Given the description of an element on the screen output the (x, y) to click on. 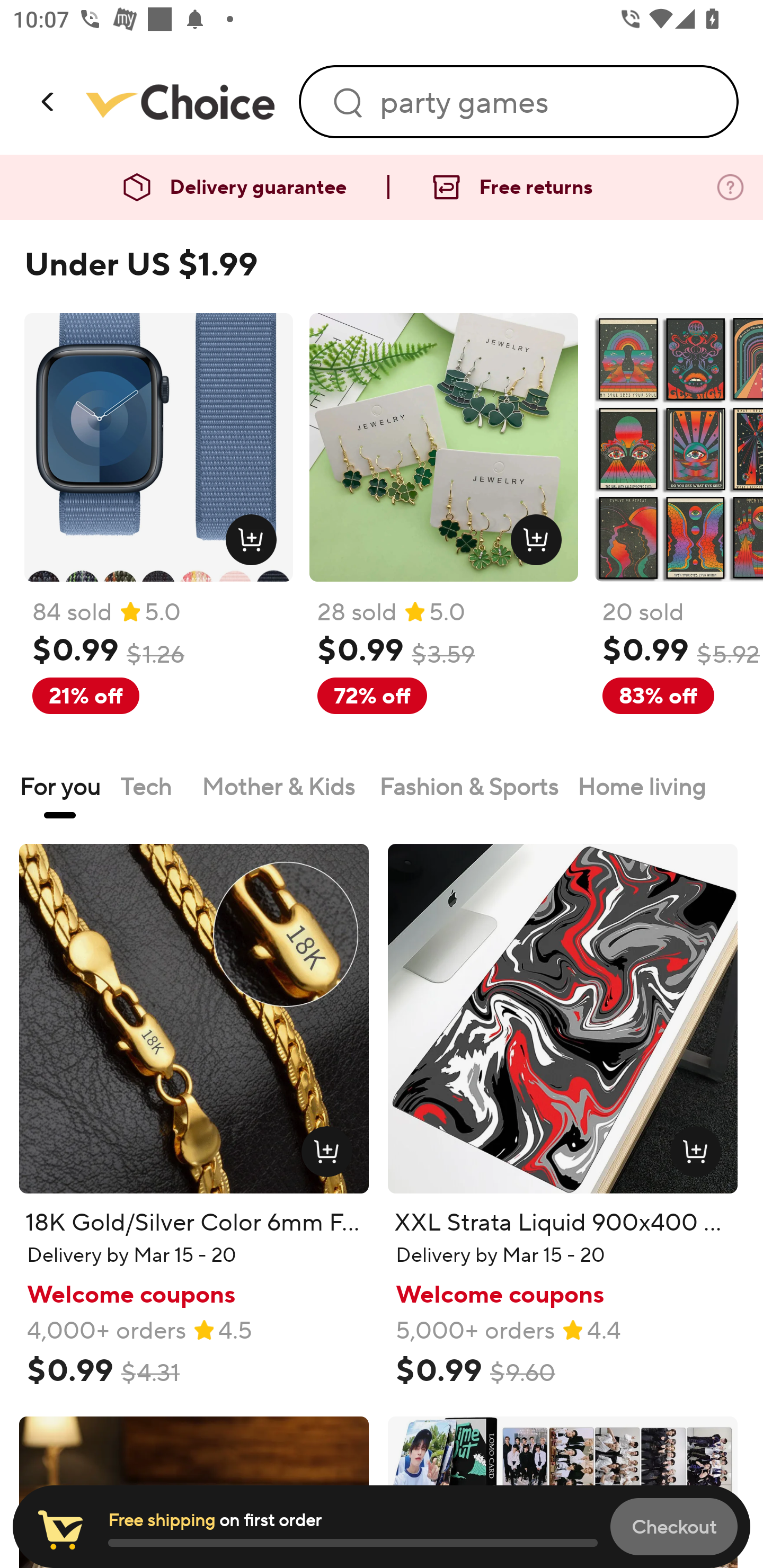
party games (546, 101)
 (48, 100)
Delivery guarantee Free returns (381, 187)
84 sold 5.0 $_0.99 $_1.26 21% off (158, 533)
28 sold 5.0 $_0.99 $_3.59 72% off (443, 533)
20 sold $_0.99 $_5.92 83% off (678, 533)
For you (59, 786)
Tech   (150, 786)
Mother & Kids  (280, 786)
Fashion & Sports (468, 786)
Home living (641, 786)
Free shipping on first order 0.0 Checkout (381, 1526)
Checkout (673, 1526)
